Given the description of an element on the screen output the (x, y) to click on. 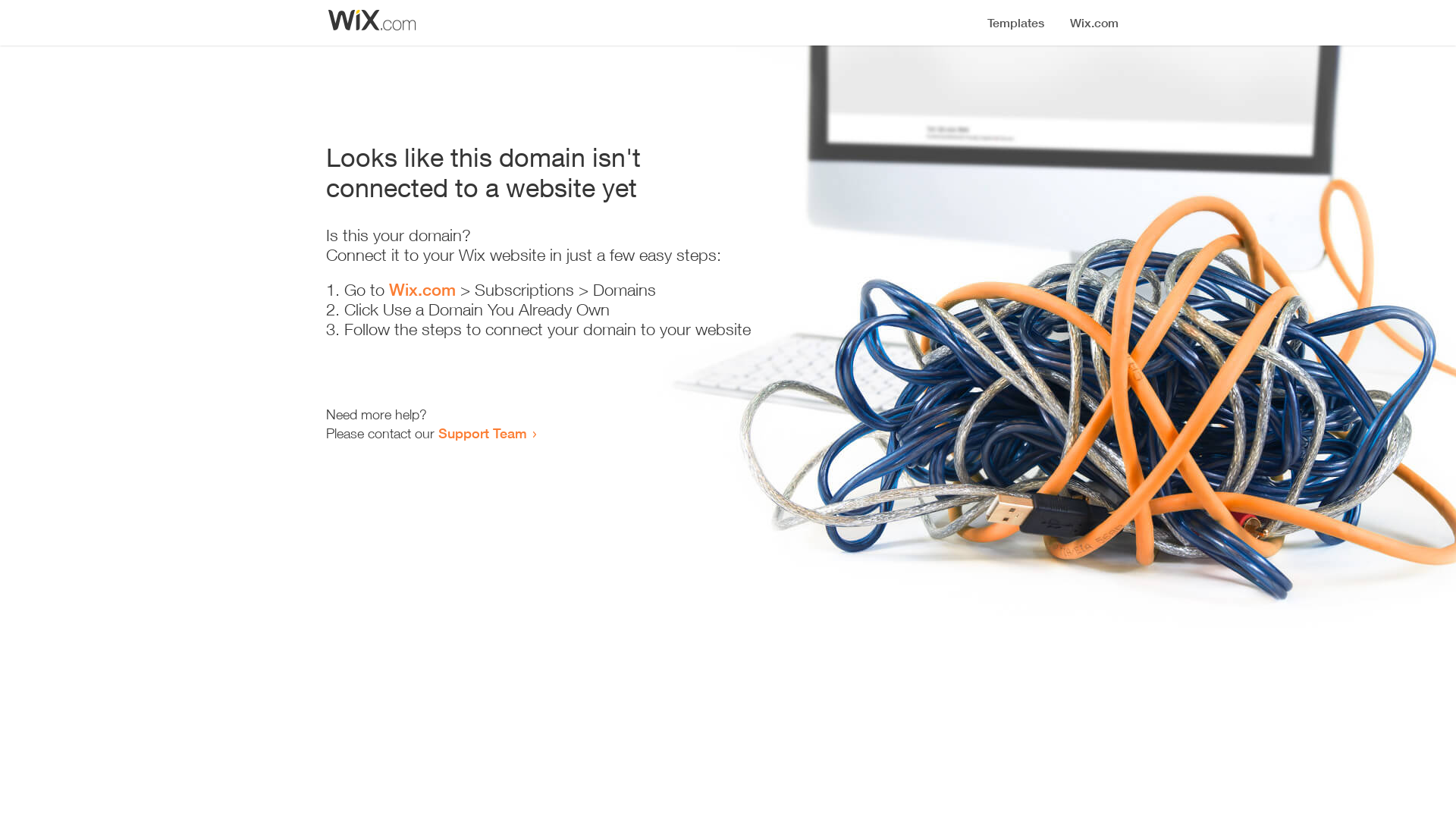
Support Team Element type: text (482, 432)
Wix.com Element type: text (422, 289)
